Given the description of an element on the screen output the (x, y) to click on. 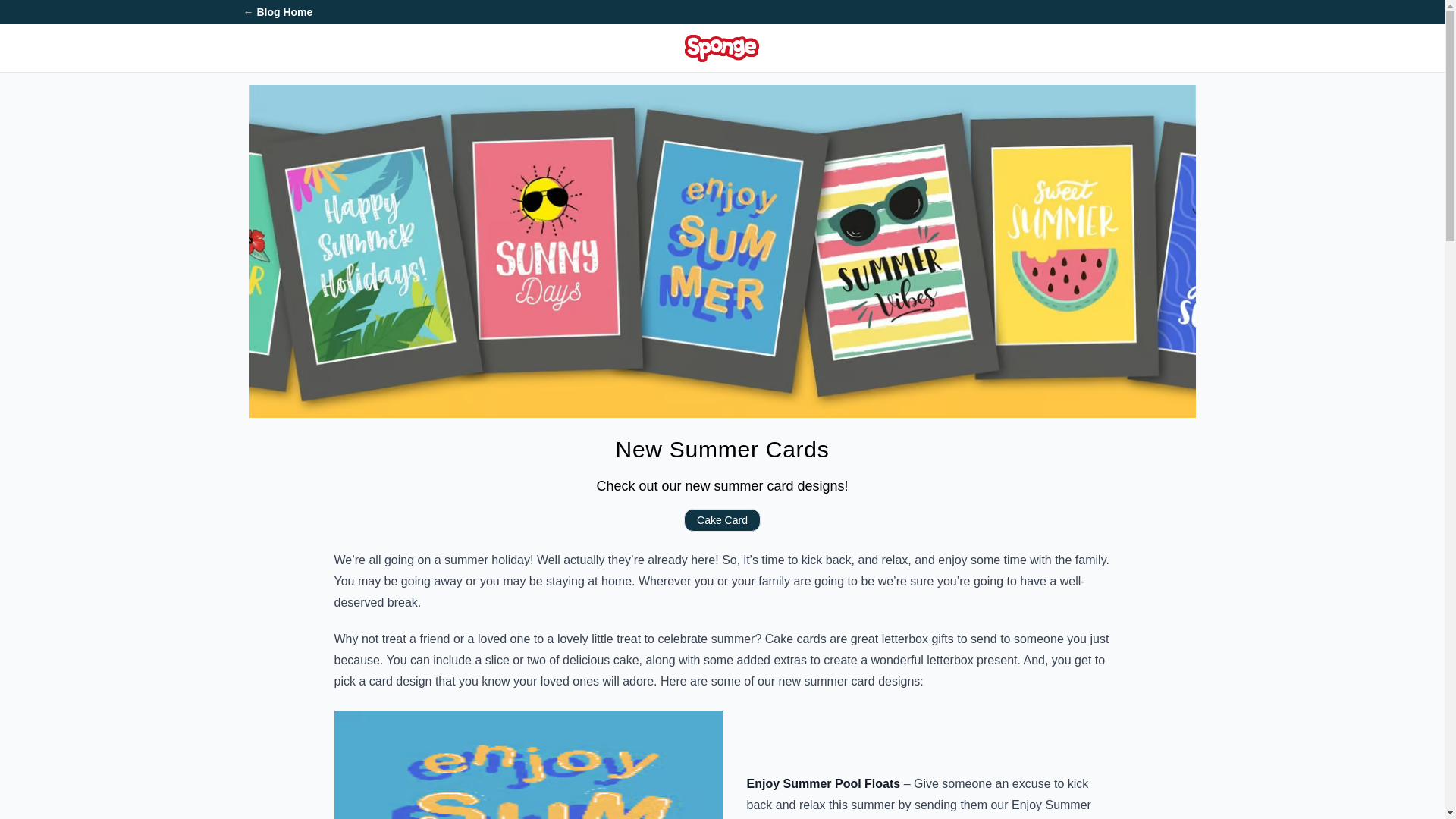
Cake Card (722, 520)
Sponge Blog (721, 48)
